Given the description of an element on the screen output the (x, y) to click on. 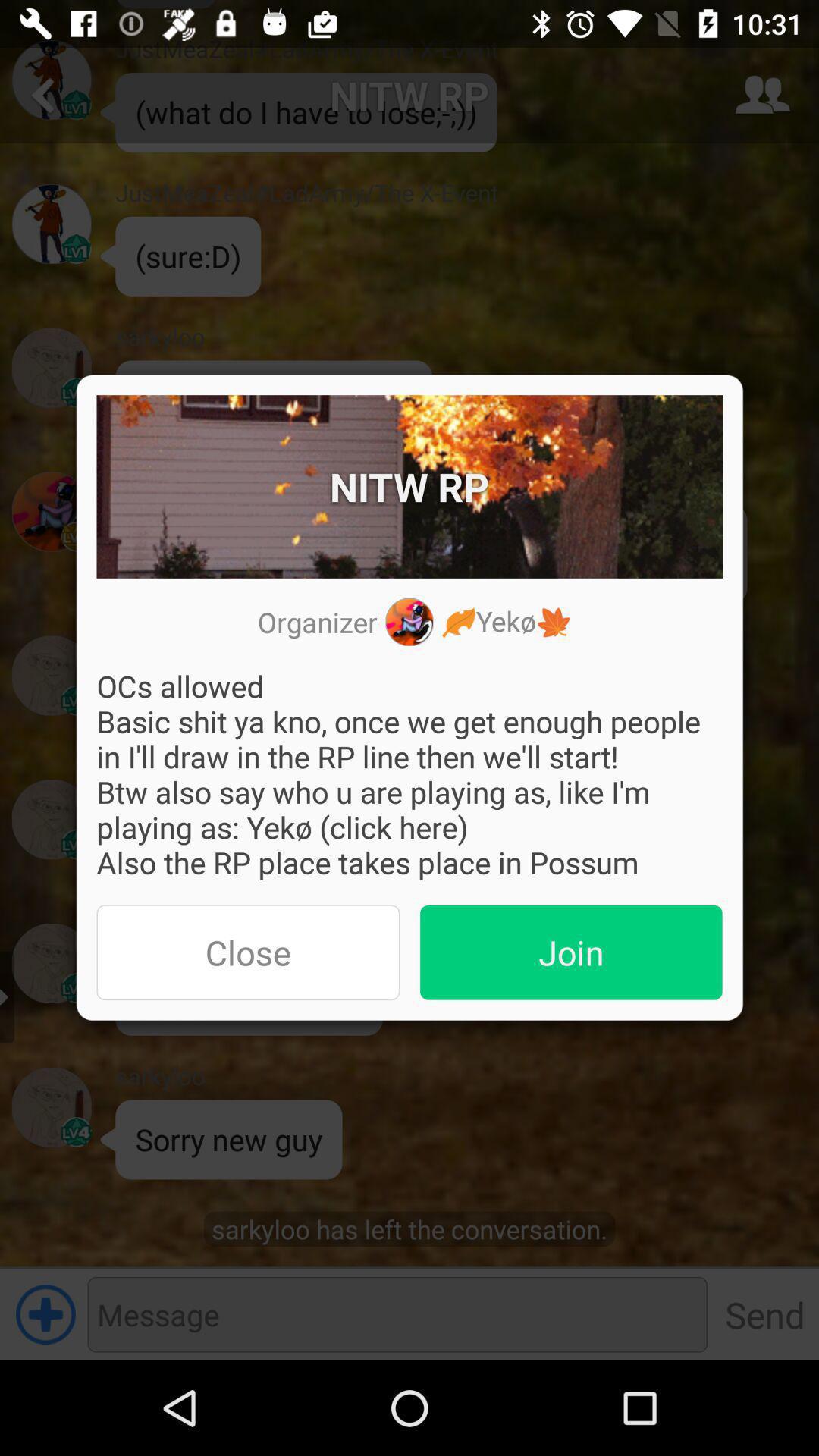
open the close item (247, 952)
